Given the description of an element on the screen output the (x, y) to click on. 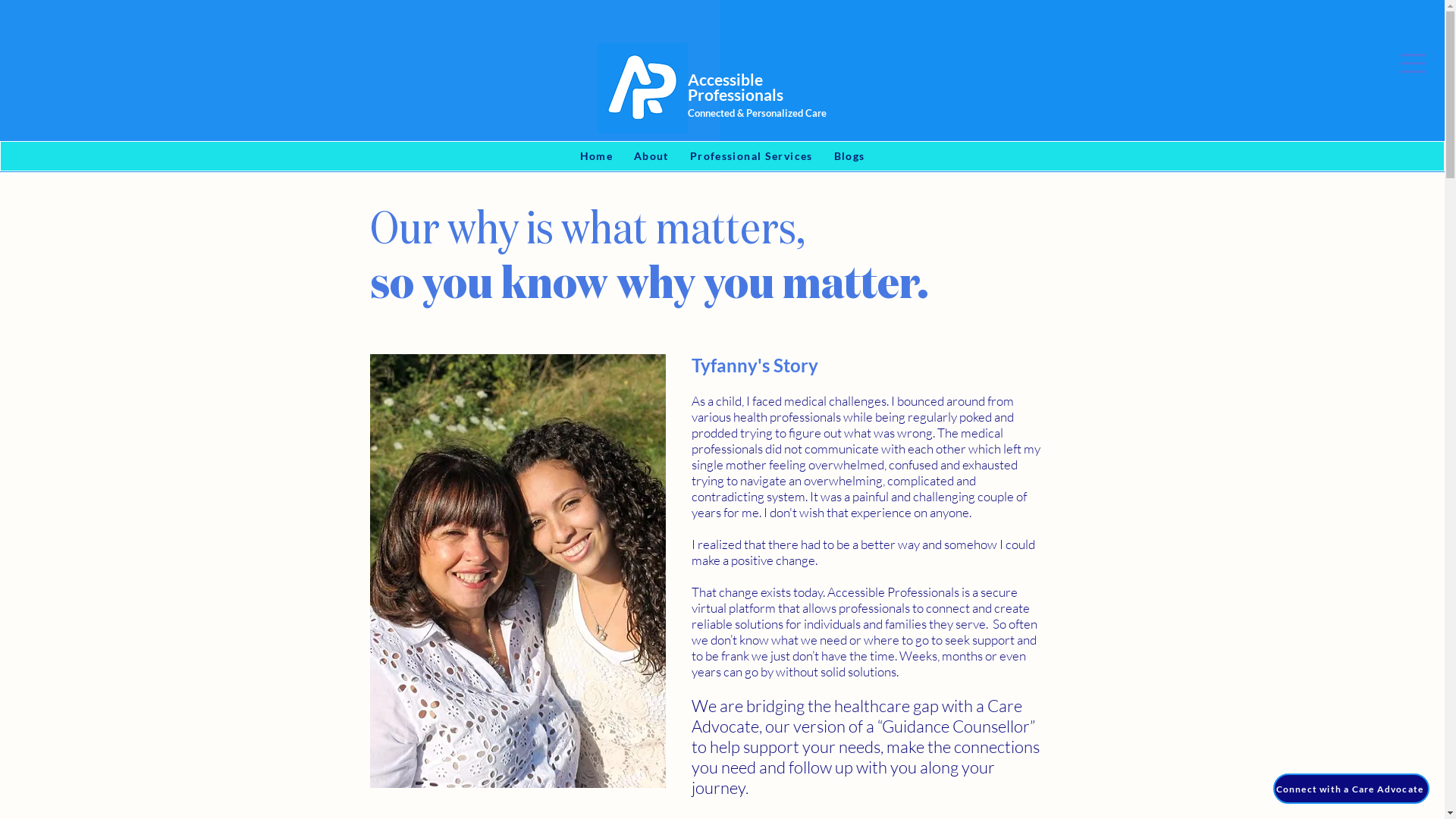
Professional Services Element type: text (751, 155)
About Element type: text (651, 155)
Accessible 
Professionals Element type: text (735, 86)
Blogs Element type: text (849, 155)
Home Element type: text (595, 155)
Connect with a Care Advocate Element type: text (1351, 788)
